Given the description of an element on the screen output the (x, y) to click on. 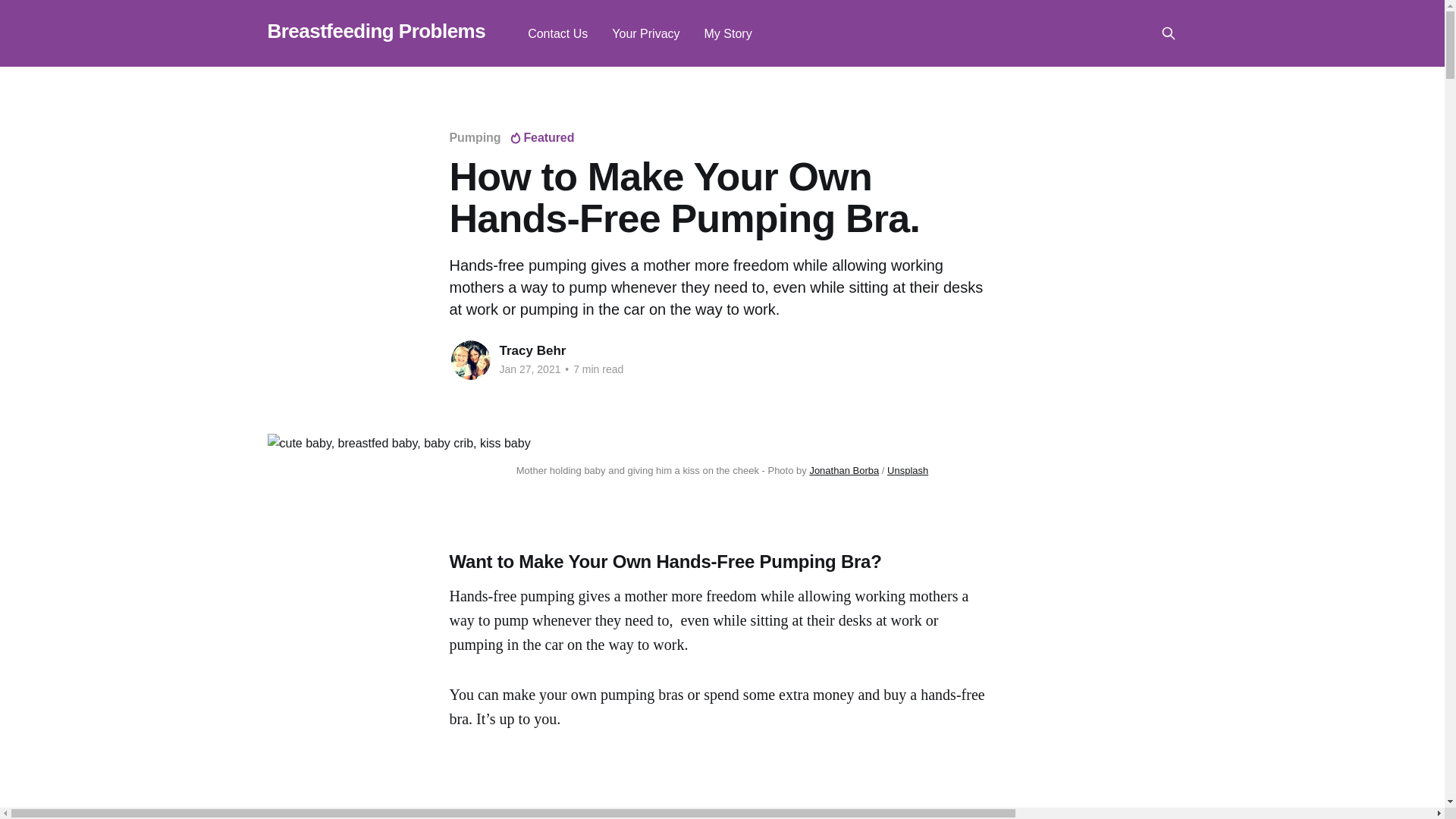
Pumping (474, 137)
My Story (728, 33)
Contact Us (557, 33)
Tracy Behr (532, 350)
Jonathan Borba (844, 470)
Unsplash (907, 470)
Your Privacy (645, 33)
Breastfeeding Problems (375, 31)
